Given the description of an element on the screen output the (x, y) to click on. 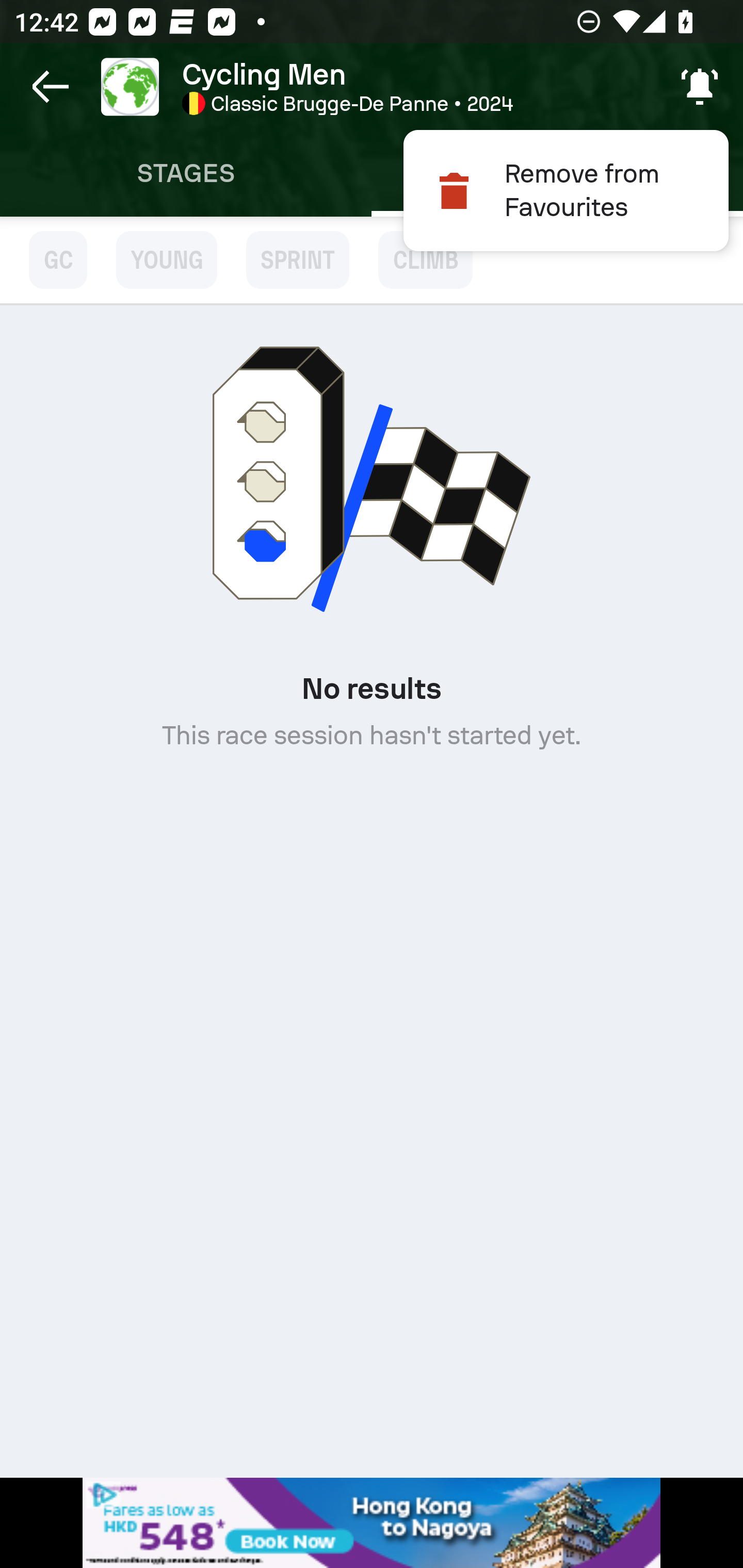
Remove from Favourites (565, 190)
